Given the description of an element on the screen output the (x, y) to click on. 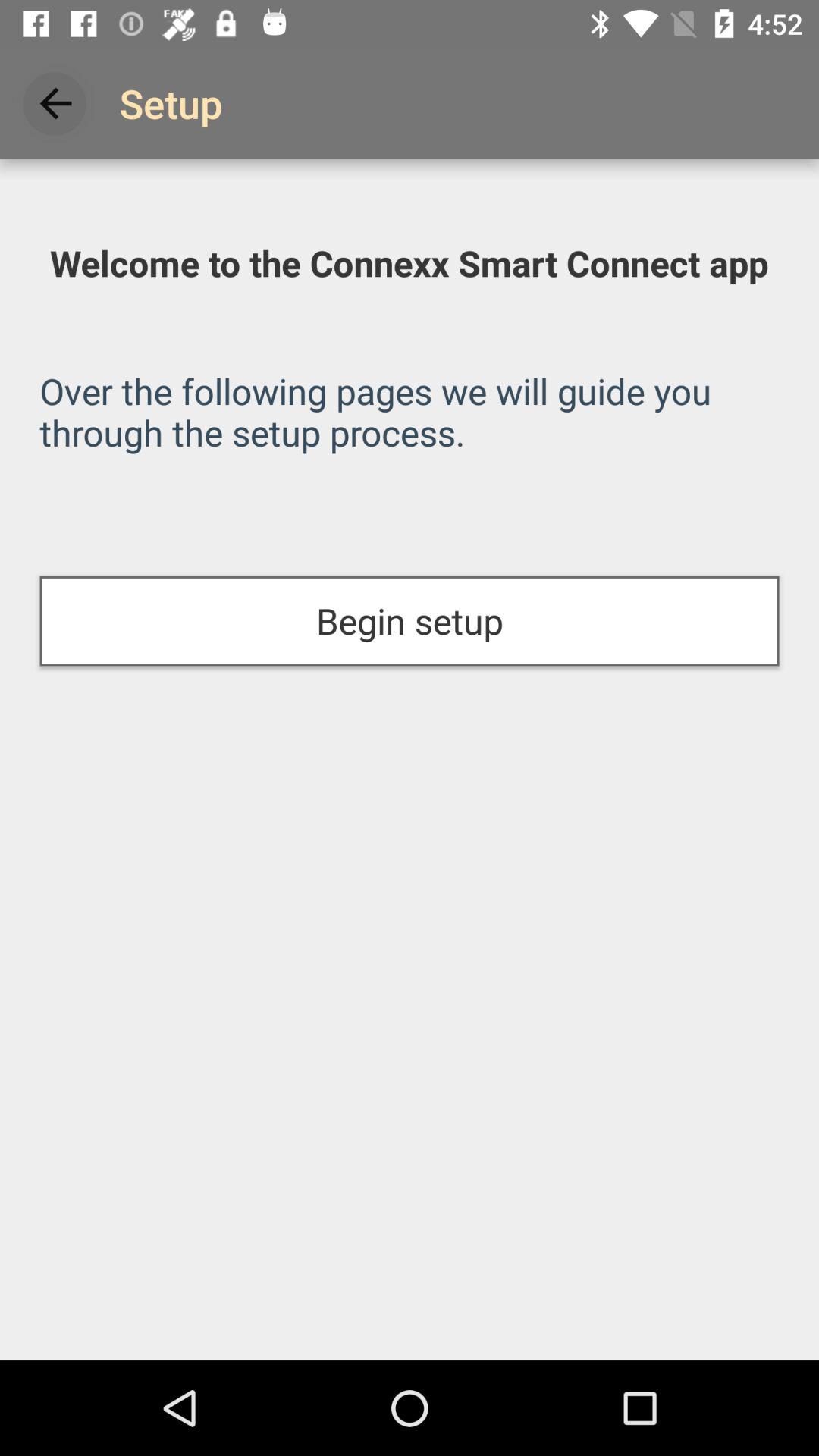
click item below over the following item (409, 621)
